Given the description of an element on the screen output the (x, y) to click on. 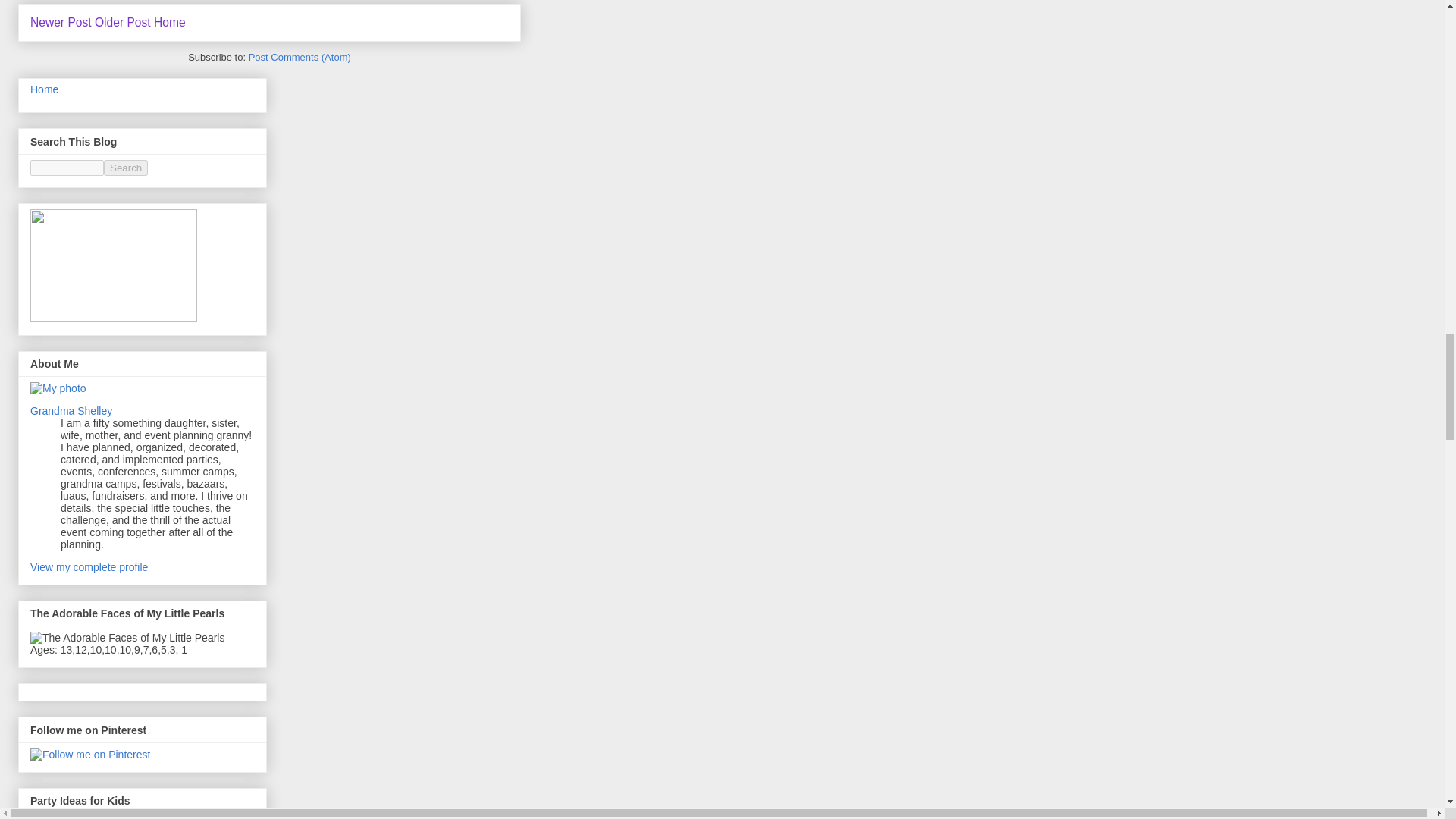
Newer Post (60, 21)
Search (125, 167)
Search (125, 167)
Older Post (122, 21)
search (125, 167)
search (66, 167)
